Given the description of an element on the screen output the (x, y) to click on. 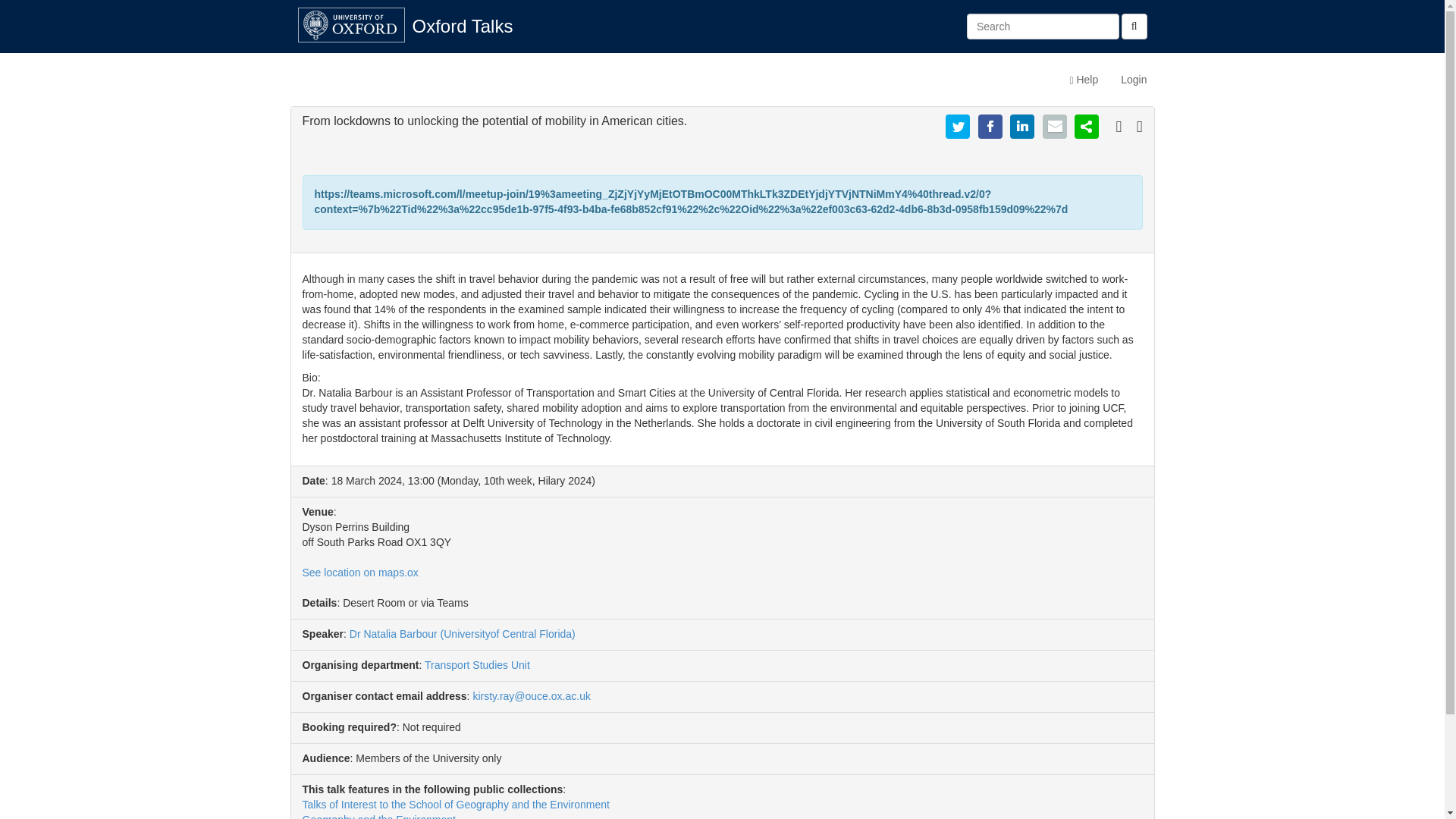
See location on maps.ox (359, 572)
Help (1083, 79)
Login (1133, 79)
Geography and the Environment (377, 816)
Transport Studies Unit (477, 664)
Oxford Talks (462, 26)
